Given the description of an element on the screen output the (x, y) to click on. 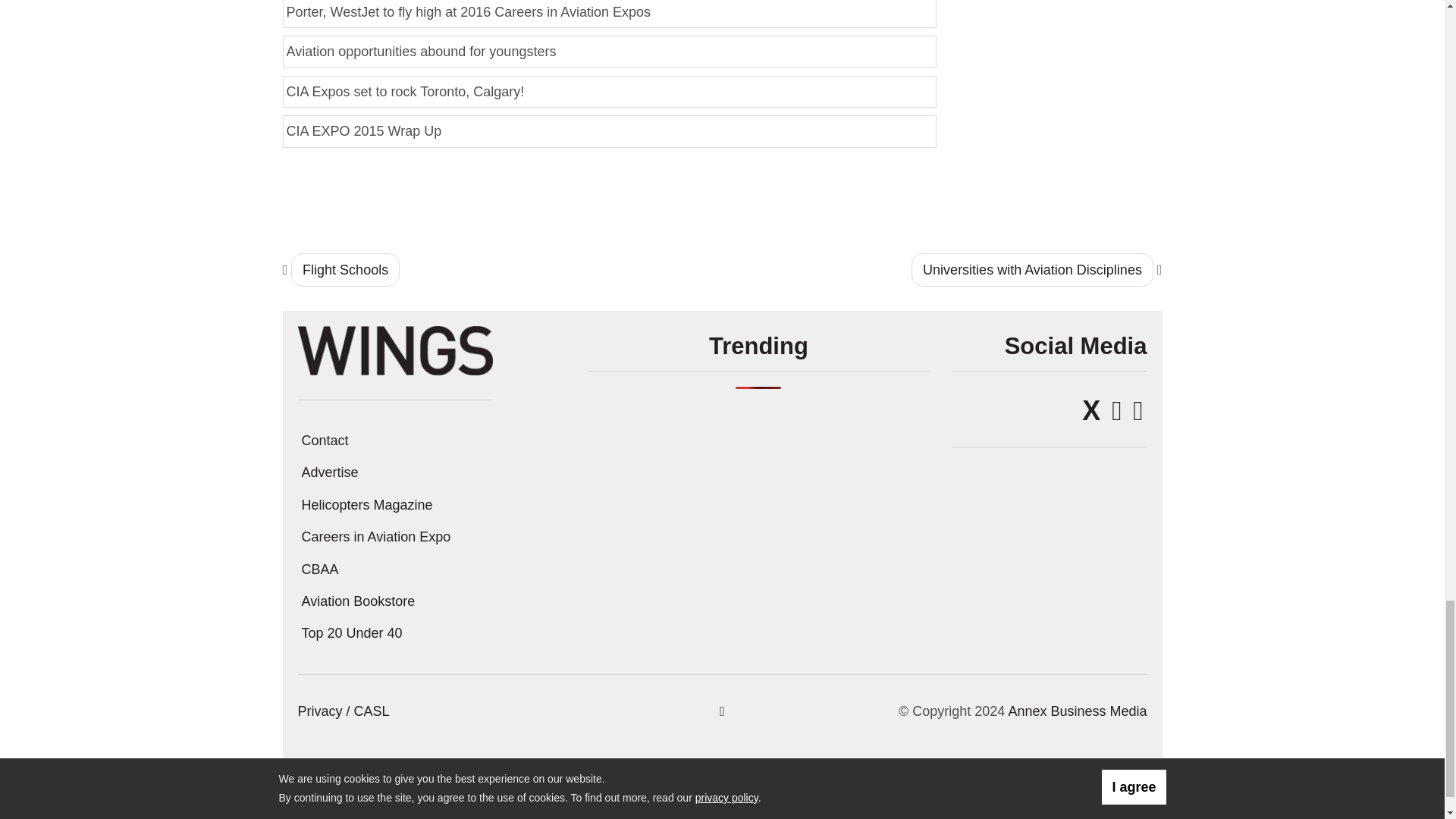
Wings Magazine (395, 349)
Annex Business Media (1077, 711)
